Given the description of an element on the screen output the (x, y) to click on. 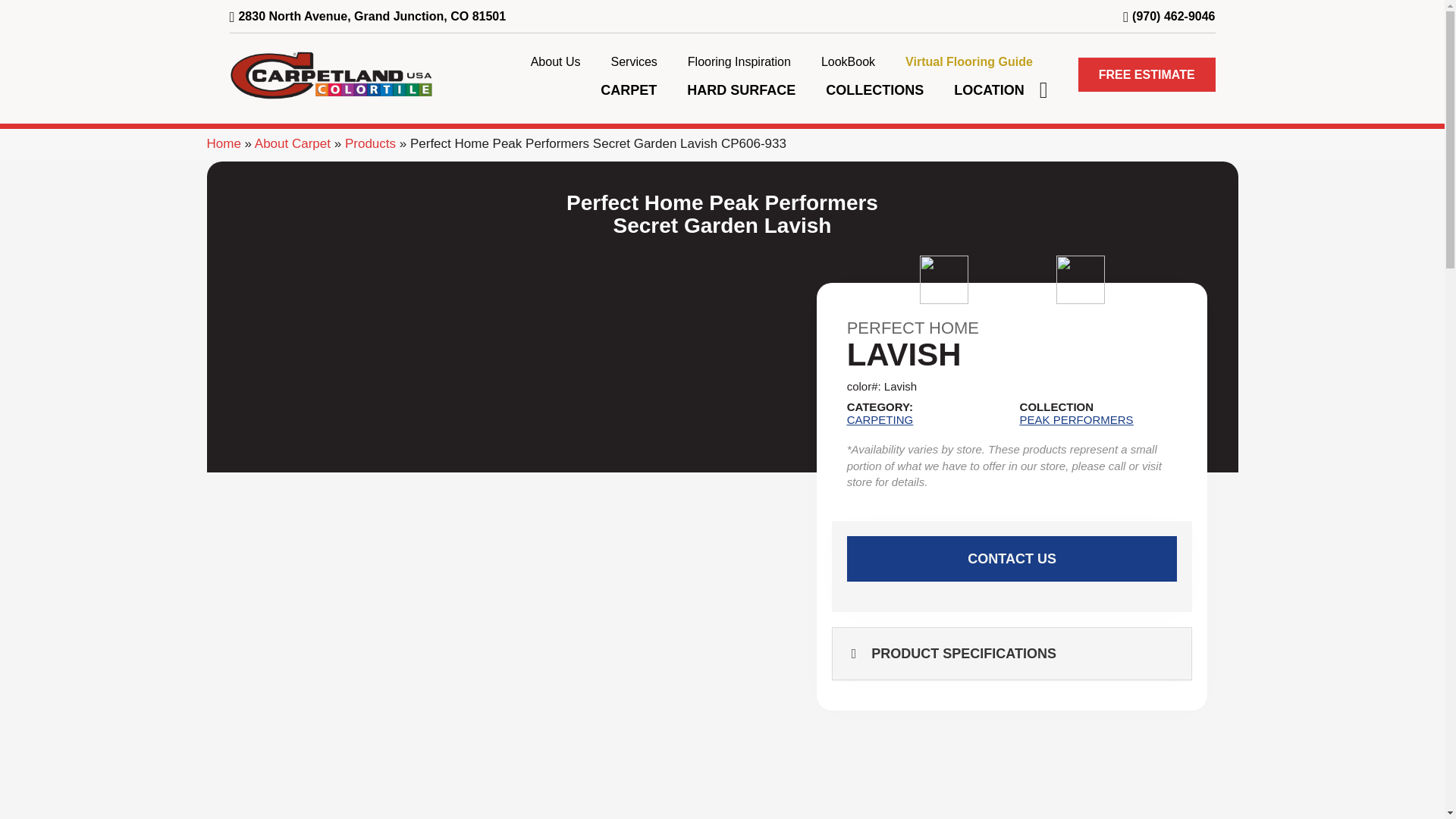
cropped-Carpetland-logo (330, 74)
